Given the description of an element on the screen output the (x, y) to click on. 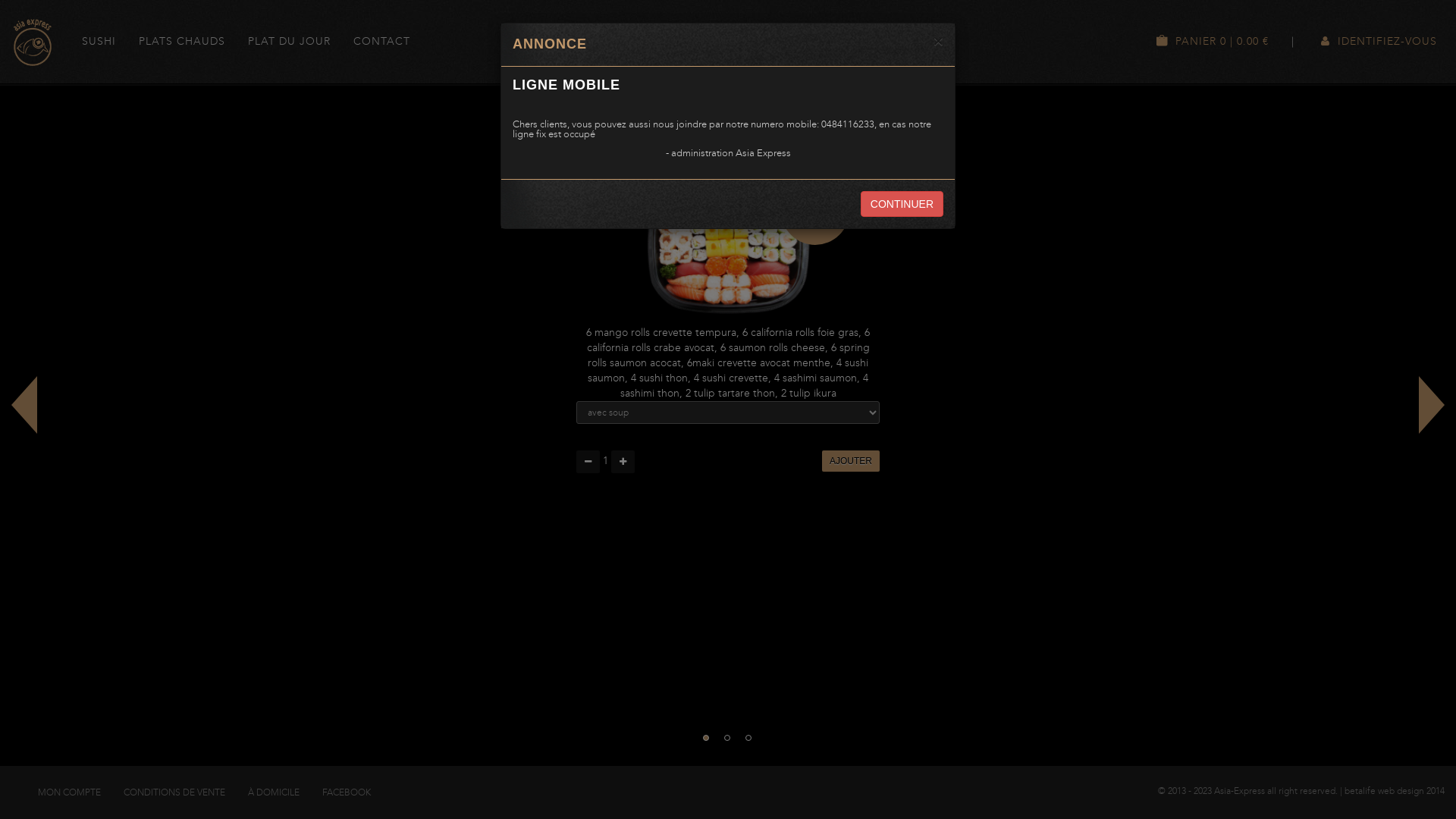
CONTACT Element type: text (381, 41)
Asia-Express Element type: hover (33, 41)
AJOUTER Element type: text (850, 460)
betalife Element type: text (1359, 790)
FACEBOOK Element type: text (346, 792)
MON COMPTE Element type: text (69, 792)
PLAT DU JOUR Element type: text (289, 41)
CONDITIONS DE VENTE Element type: text (174, 792)
| Element type: text (1292, 41)
PLATS CHAUDS Element type: text (181, 41)
SUSHI Element type: text (98, 41)
   IDENTIFIEZ-VOUS Element type: text (1376, 41)
CONTINUER Element type: text (901, 203)
